Given the description of an element on the screen output the (x, y) to click on. 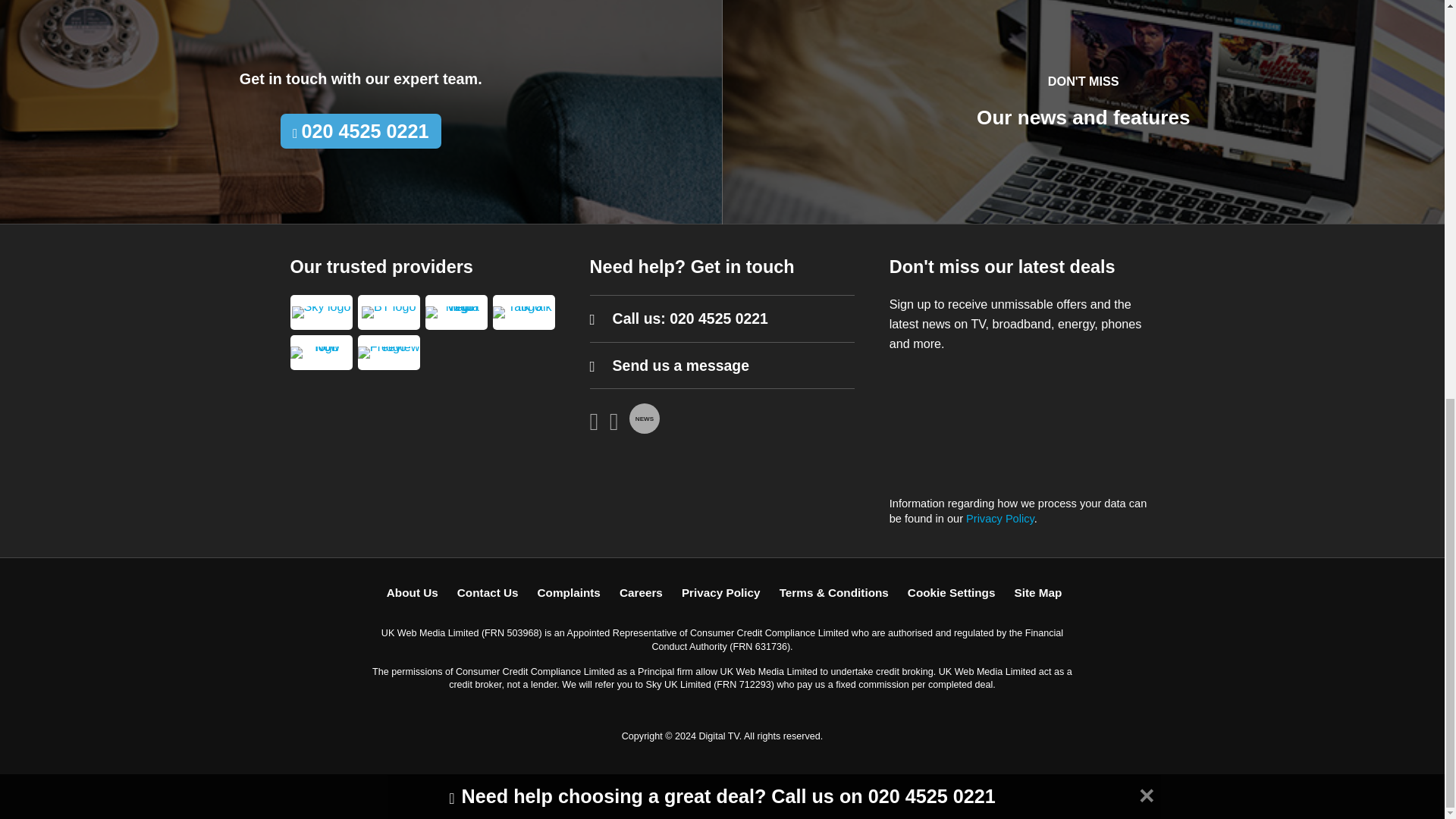
Contact Us (487, 592)
Send us a message (680, 365)
Privacy Policy (999, 518)
020 4525 0221 (361, 131)
020 4525 0221 (718, 318)
About Us (412, 592)
Our news and features (1082, 117)
